Given the description of an element on the screen output the (x, y) to click on. 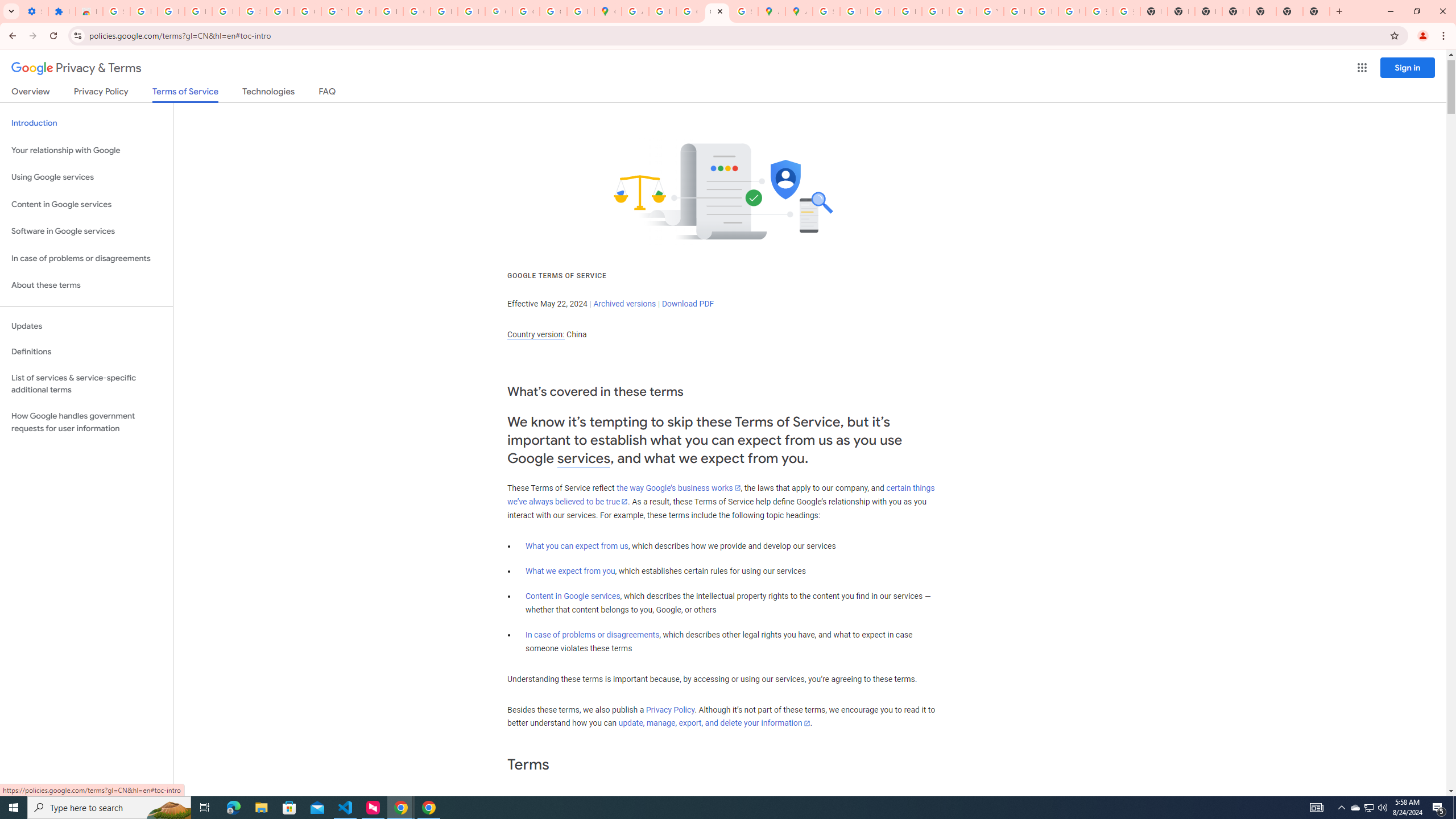
Google apps (1362, 67)
Privacy Help Center - Policies Help (880, 11)
New Tab (1316, 11)
View site information (77, 35)
YouTube (334, 11)
New Tab (1338, 11)
What we expect from you (570, 570)
Country version: (535, 334)
Restore (1416, 11)
https://scholar.google.com/ (389, 11)
